Given the description of an element on the screen output the (x, y) to click on. 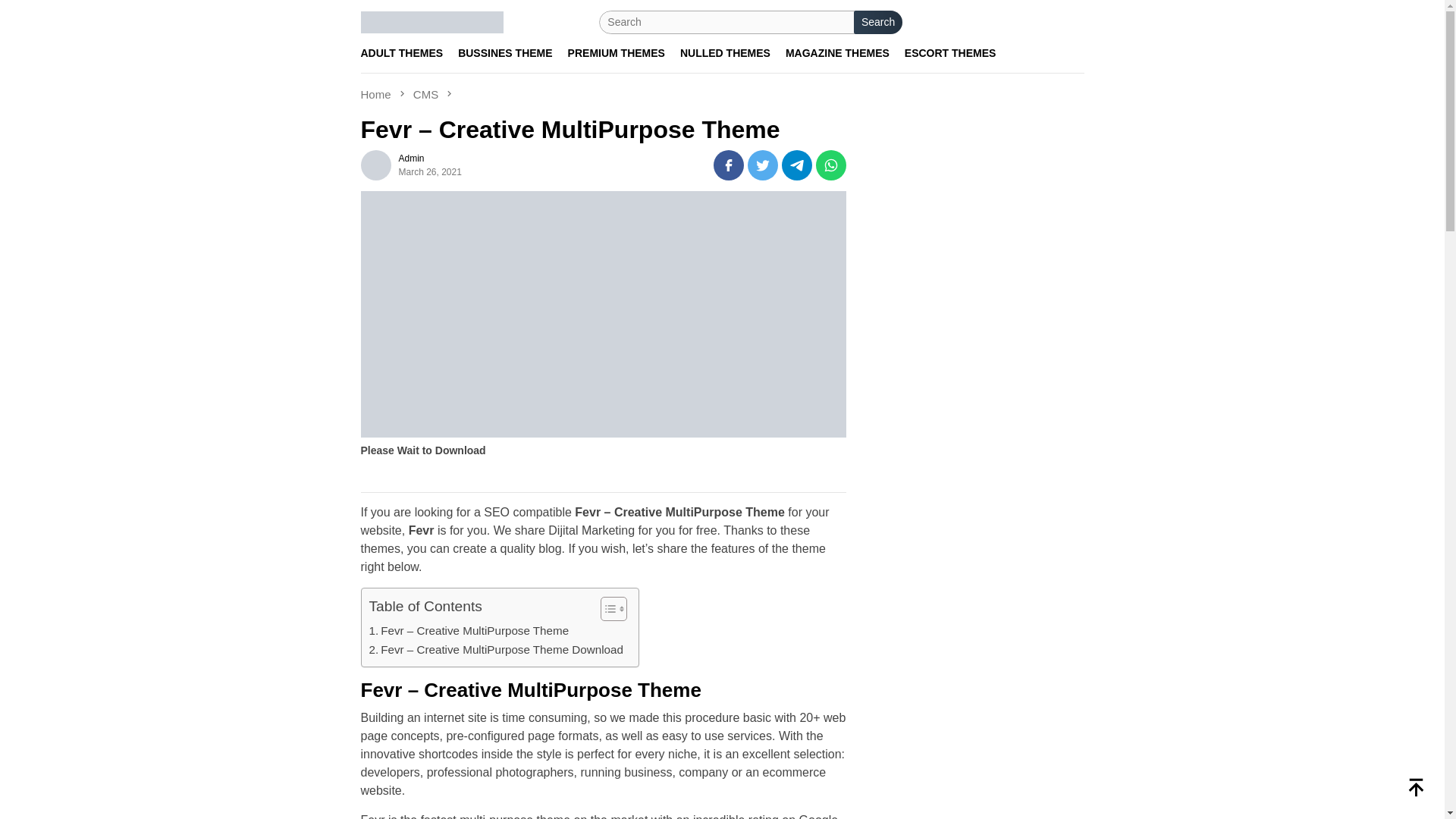
Gravatar (376, 164)
Telegram Share (796, 164)
Tweet this (762, 164)
BUSSINES THEME (504, 53)
PREMIUM THEMES (616, 53)
MAGAZINE THEMES (836, 53)
Search (877, 22)
Admin (411, 158)
Permalink to: admin (411, 158)
Free WordPress Themes (432, 21)
